Given the description of an element on the screen output the (x, y) to click on. 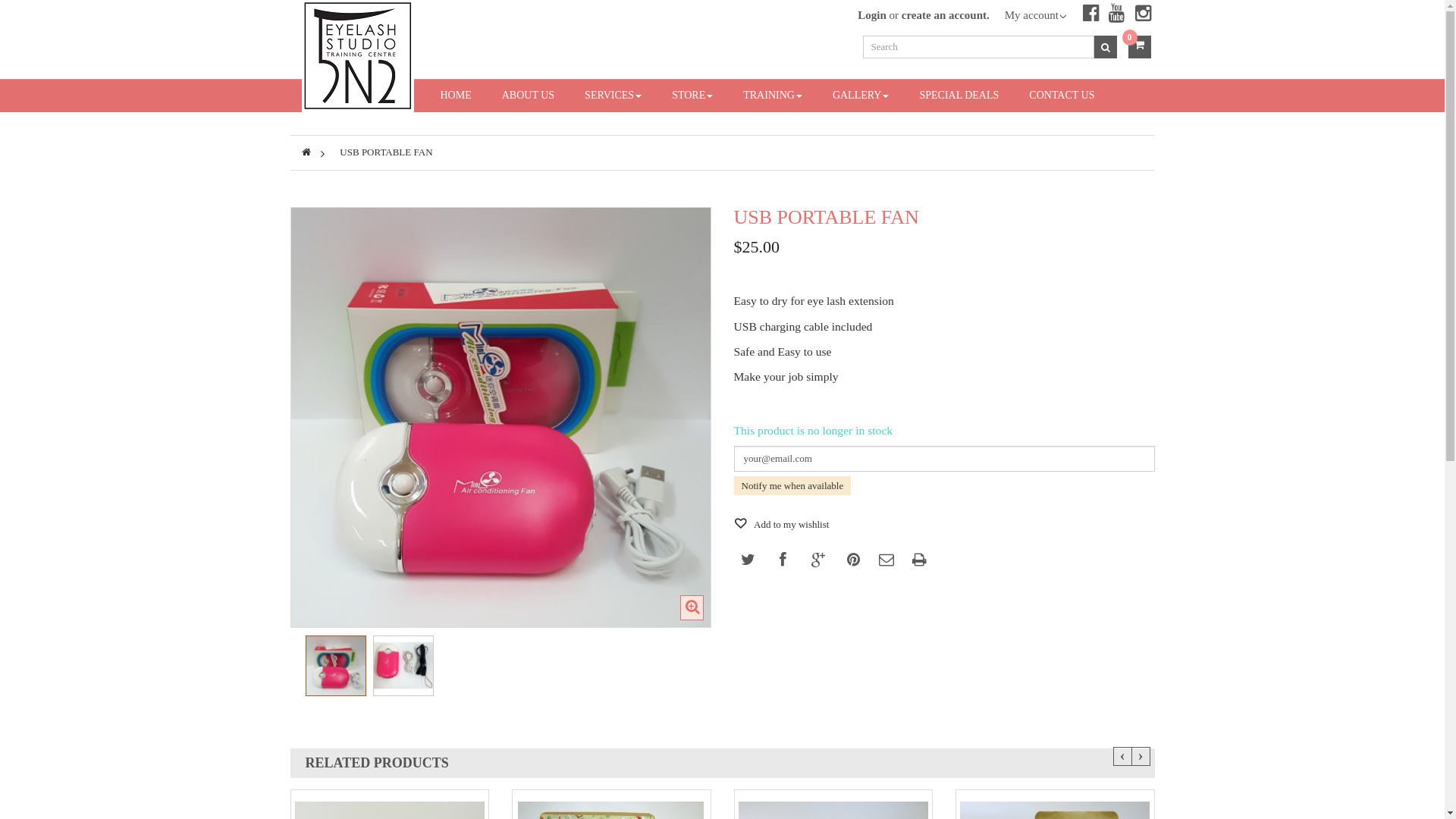
create an account. Element type: text (945, 15)
Electric Air Blower Element type: hover (335, 665)
CONTACT US Element type: text (1061, 95)
Electric Air Blower Element type: hover (499, 417)
Notify me when available Element type: text (792, 485)
GALLERY Element type: text (860, 95)
TRAINING Element type: text (772, 95)
ABOUT US Element type: text (528, 95)
USB Portable Fan Element type: hover (402, 665)
SPECIAL DEALS Element type: text (958, 95)
Add to my wishlist Element type: text (781, 524)
Login Element type: text (871, 15)
SERVICES Element type: text (612, 95)
Electric Air Blower Element type: hover (334, 665)
STORE Element type: text (691, 95)
USB Portable Fan Element type: hover (403, 665)
5N2 Element type: hover (357, 54)
HOME Element type: text (454, 95)
Return to Home Element type: hover (305, 151)
